Given the description of an element on the screen output the (x, y) to click on. 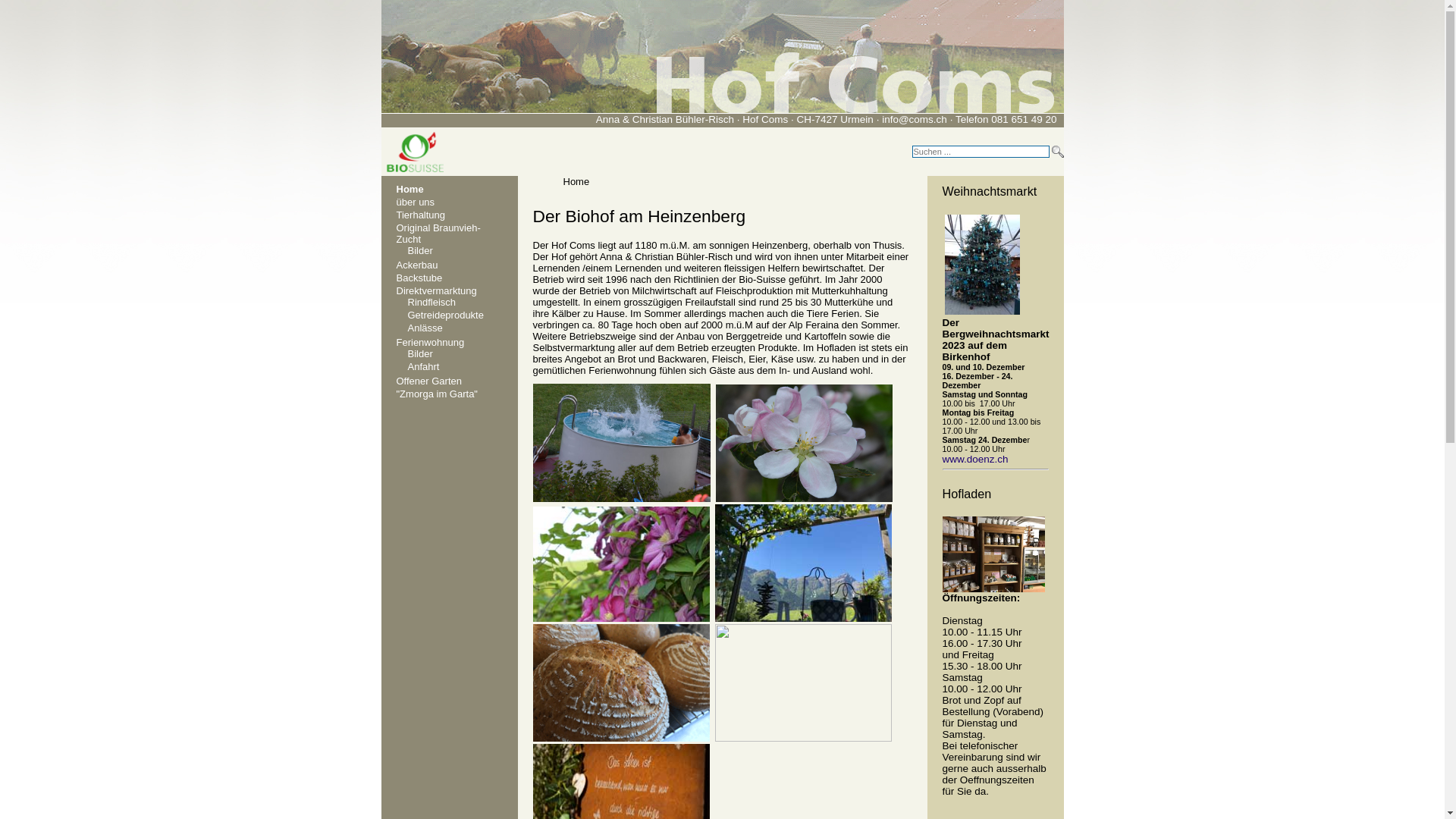
Bilder Element type: text (420, 353)
Original Braunvieh-Zucht Element type: text (437, 233)
Home Element type: text (409, 188)
Offener Garten Element type: text (428, 380)
Tierhaltung Element type: text (420, 214)
Ferienwohnung Element type: text (429, 342)
Direktvermarktung Element type: text (435, 290)
"Zmorga im Garta" Element type: text (435, 393)
Bilder Element type: text (420, 250)
Getreideprodukte Element type: text (445, 314)
www.doenz.ch Element type: text (974, 458)
Rindfleisch Element type: text (431, 301)
Backstube Element type: text (418, 277)
info@coms.ch Element type: text (914, 119)
Ackerbau Element type: text (416, 264)
Anfahrt Element type: text (423, 366)
